Given the description of an element on the screen output the (x, y) to click on. 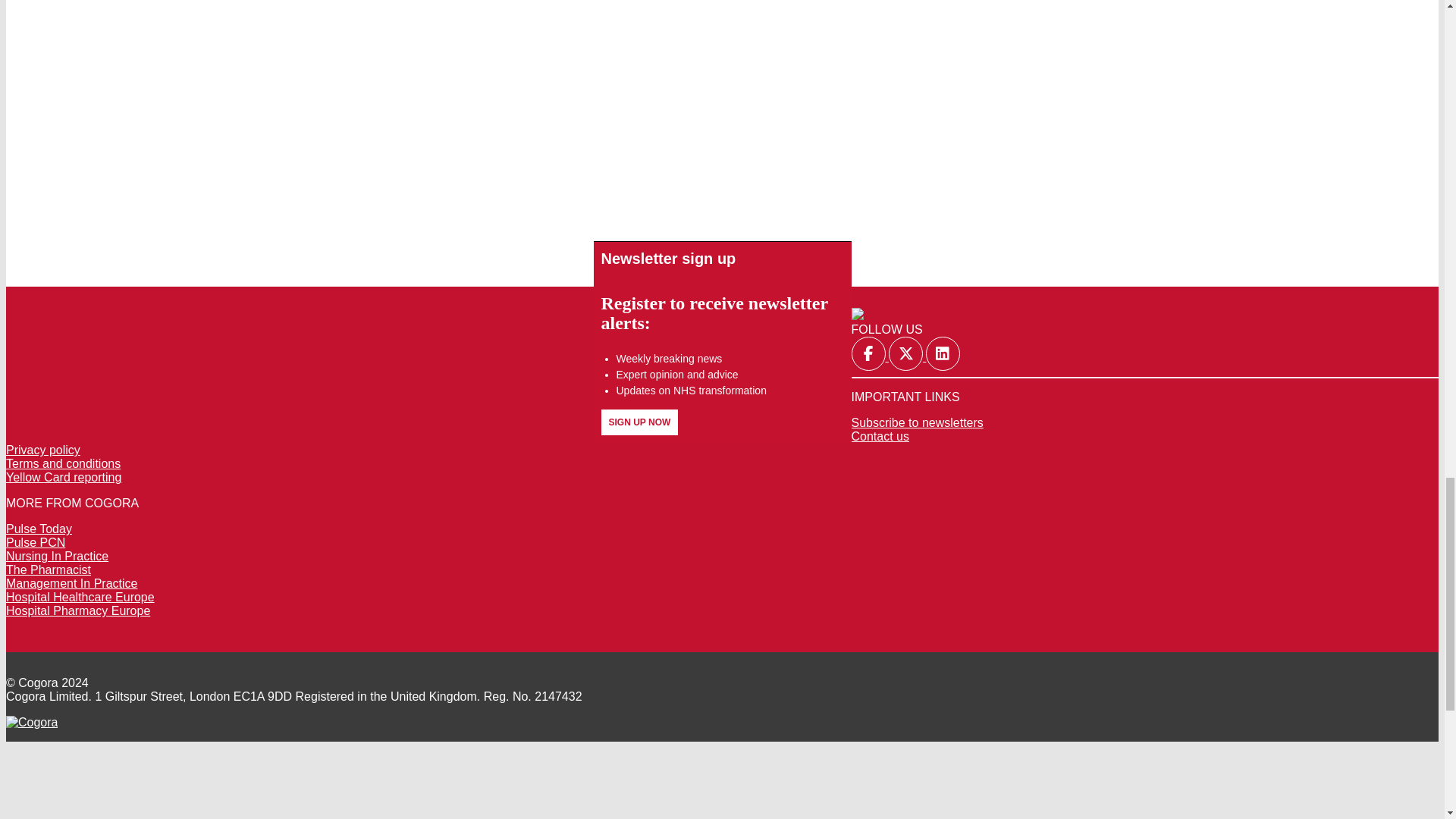
Subscribe to newsletters (916, 422)
Contact us (879, 436)
The Pharmacist (47, 569)
Pulse Today (38, 528)
Management In Practice (70, 583)
Yellow Card reporting (62, 477)
Pulse PCN (35, 542)
Terms and conditions (62, 463)
Nursing In Practice (56, 555)
Privacy policy (42, 449)
